Given the description of an element on the screen output the (x, y) to click on. 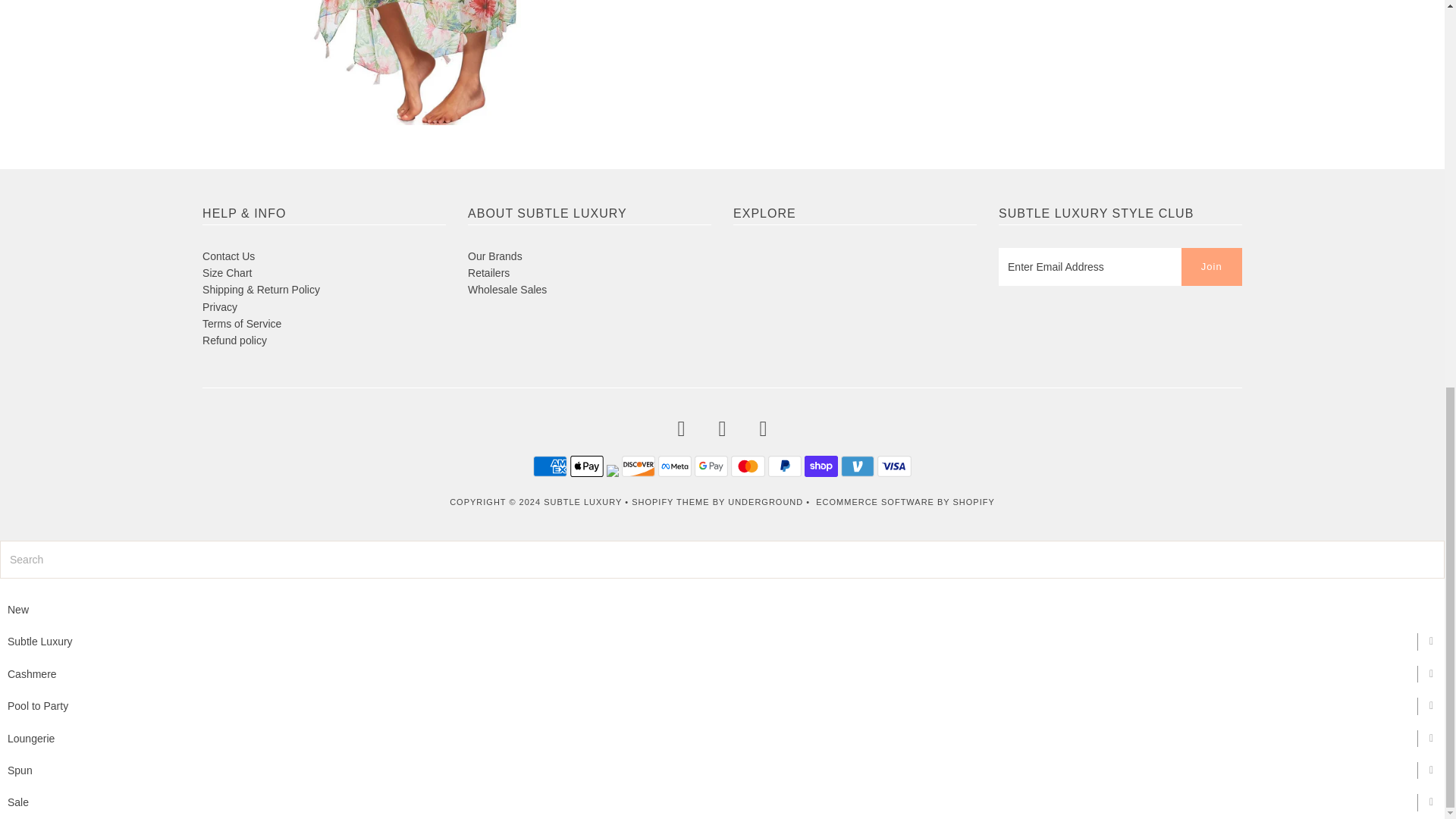
Join (1210, 266)
Dreams in Paradise Poolside Maxi Dress (416, 62)
